Given the description of an element on the screen output the (x, y) to click on. 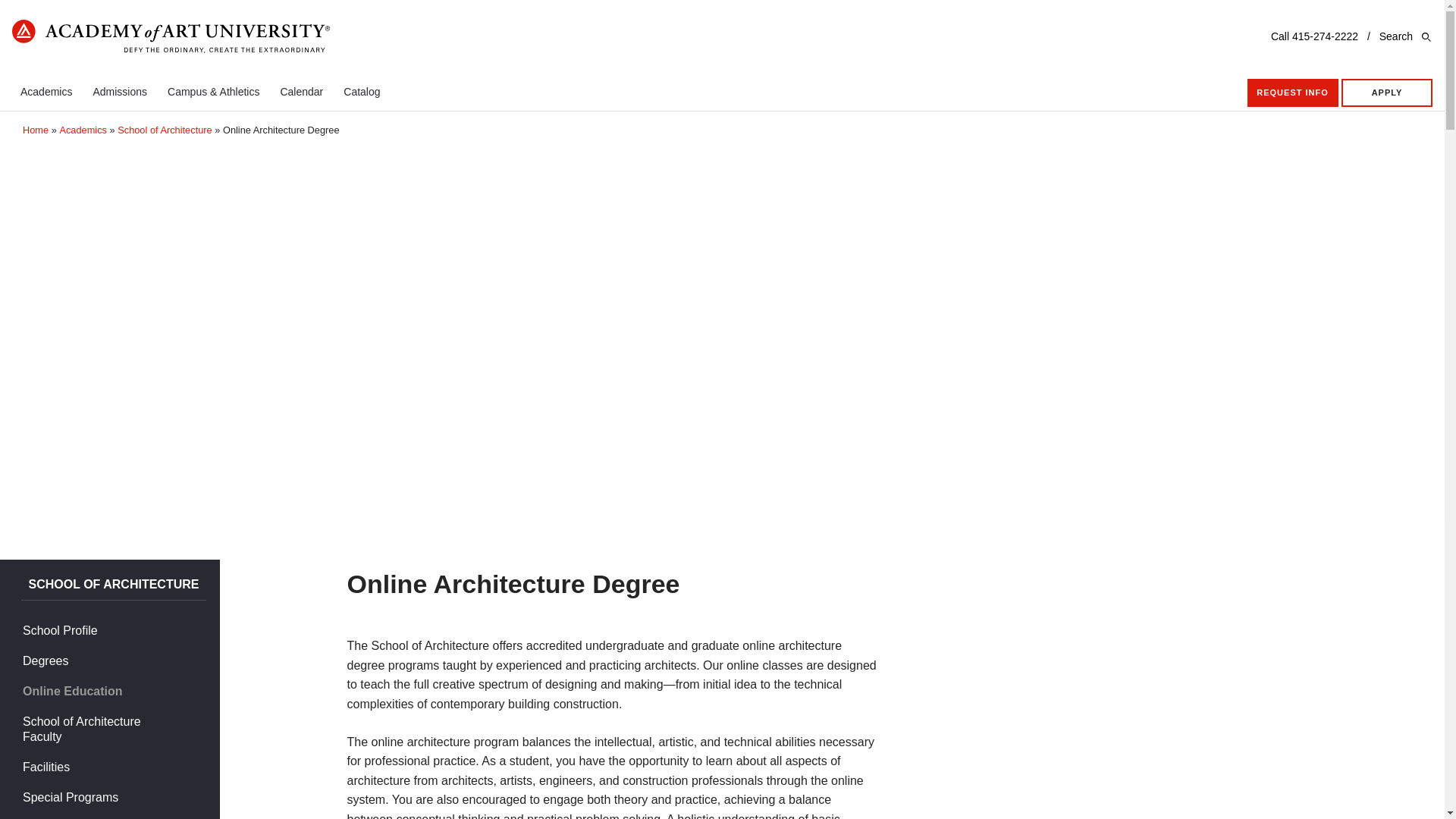
Academy of Art Univeristy Home Page (170, 38)
Academics (46, 91)
415-274-2222 (1325, 36)
